Given the description of an element on the screen output the (x, y) to click on. 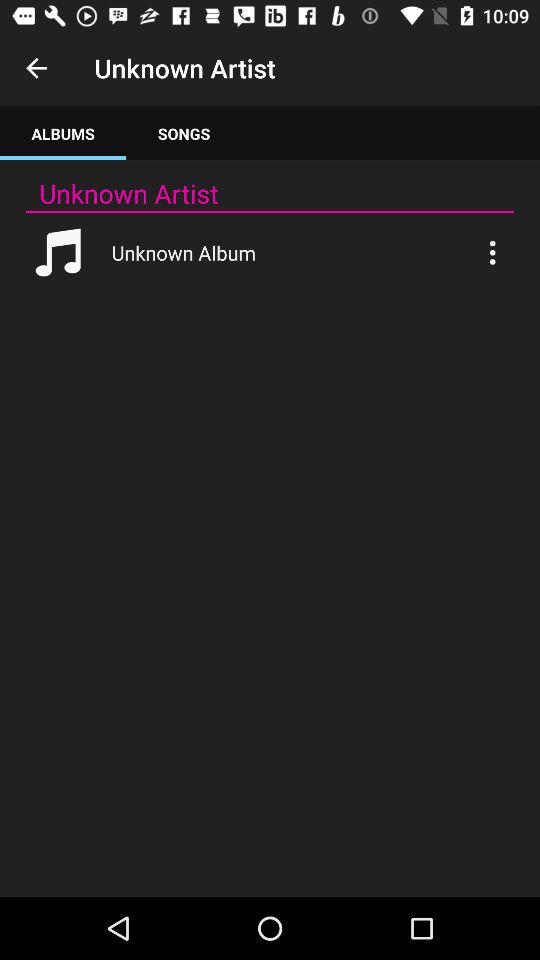
turn on the icon above the albums app (36, 68)
